Given the description of an element on the screen output the (x, y) to click on. 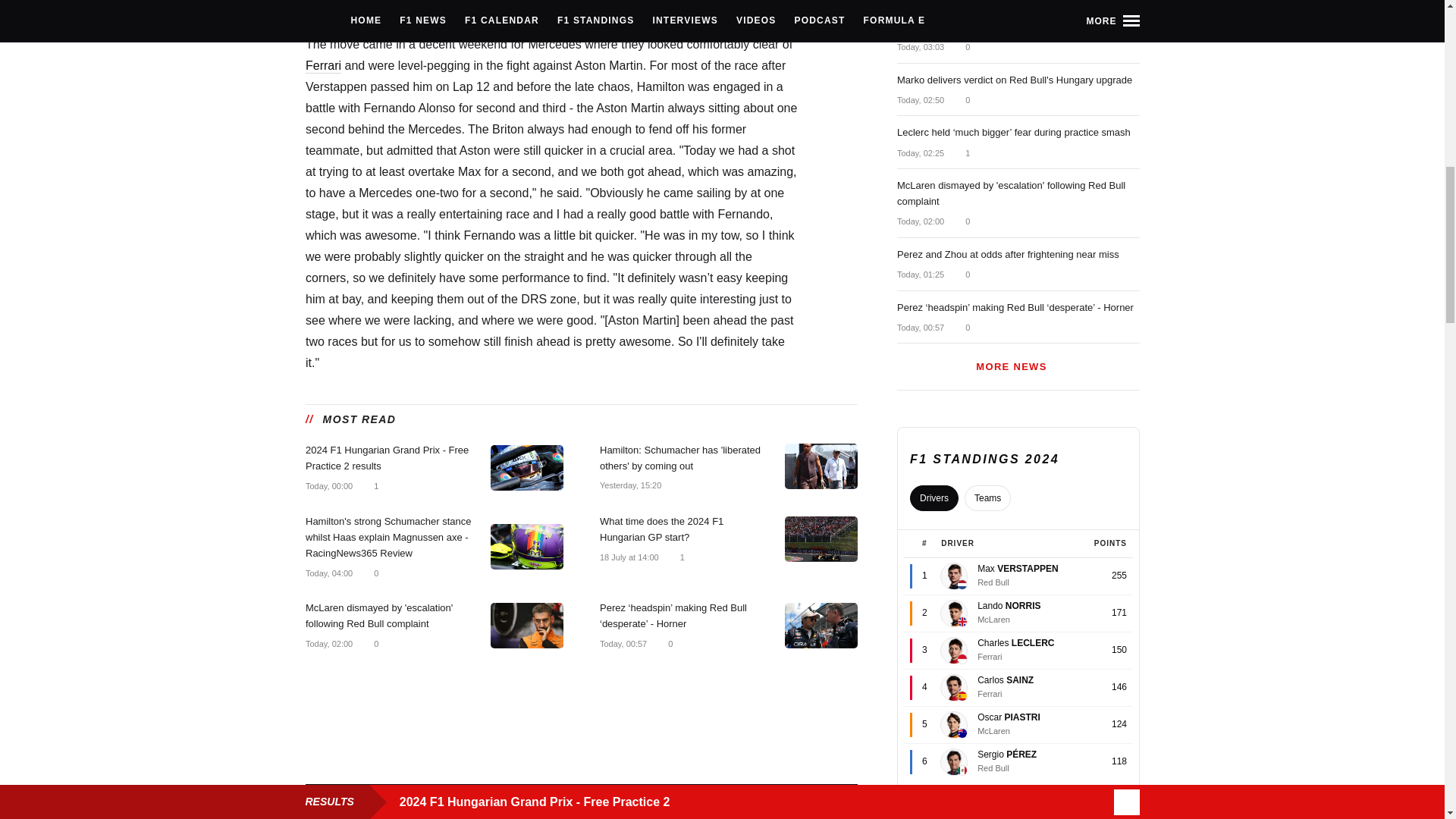
Saturday 20 July 2024 at 00:00 (328, 486)
Friday 19 July 2024 at 15:20 (629, 484)
Thursday 18 July 2024 at 14:00 (628, 556)
Saturday 20 July 2024 at 00:57 (622, 644)
Saturday 20 July 2024 at 02:00 (328, 644)
Saturday 20 July 2024 at 04:00 (328, 573)
